Given the description of an element on the screen output the (x, y) to click on. 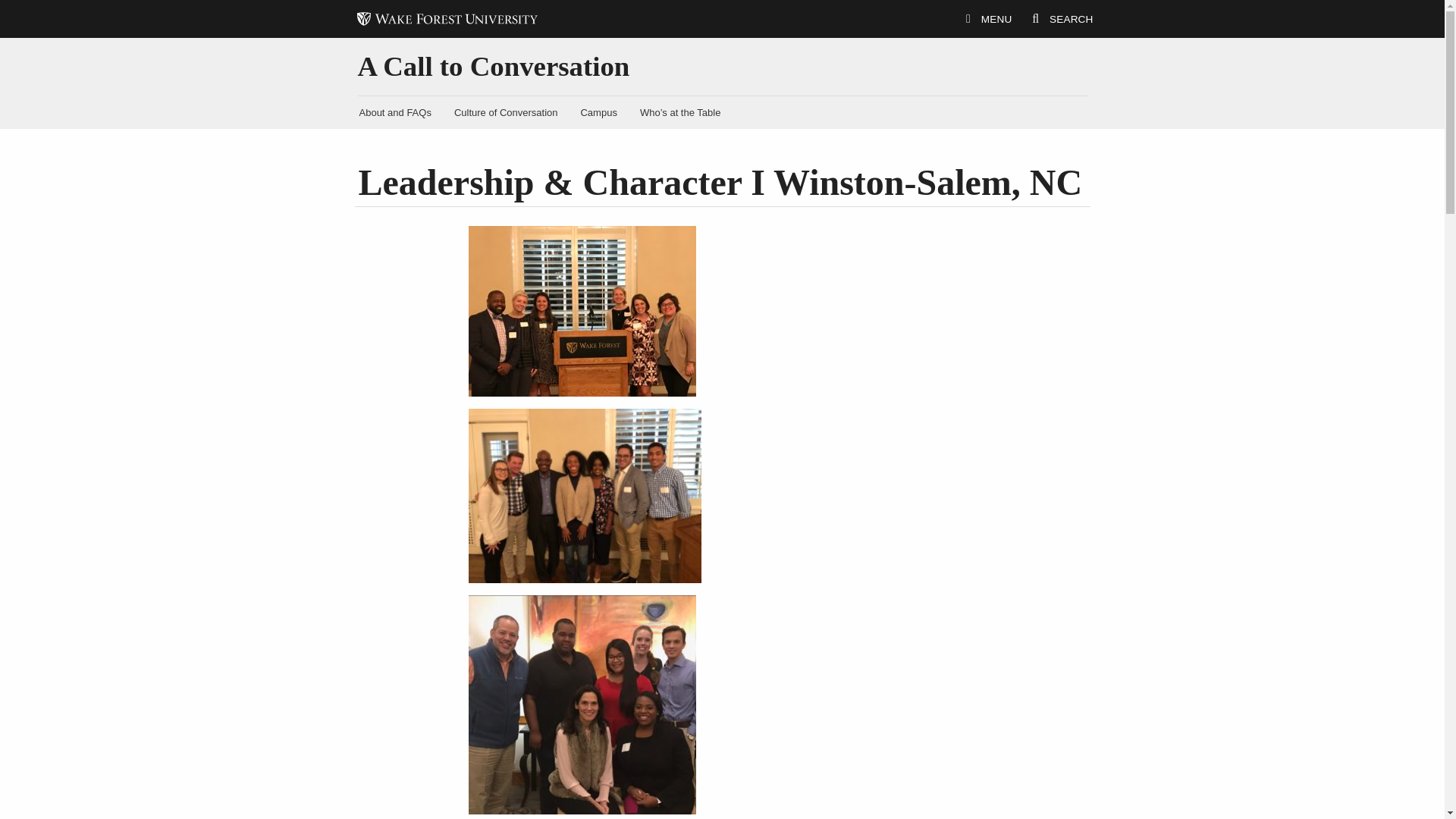
MENU (988, 19)
